Given the description of an element on the screen output the (x, y) to click on. 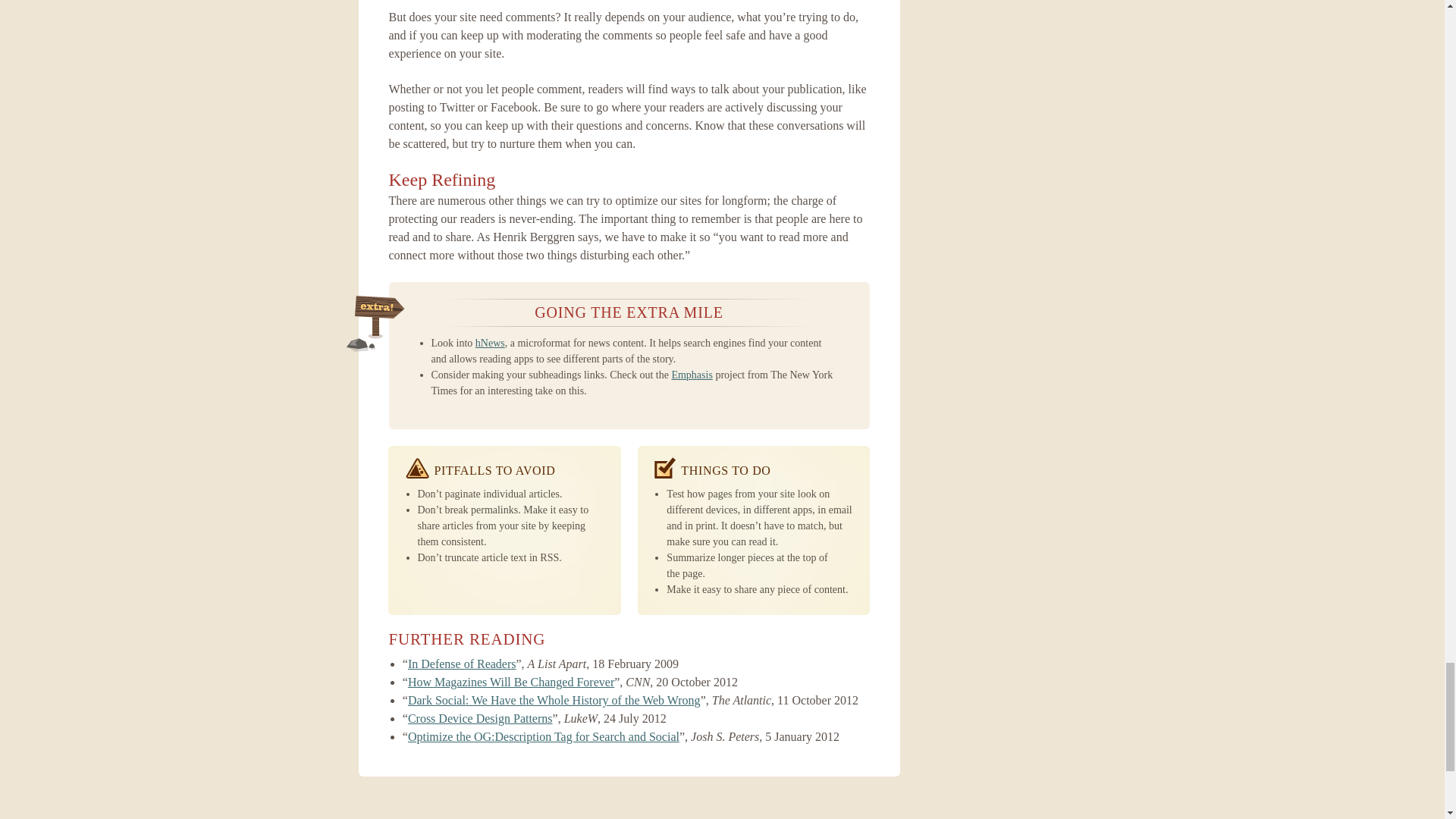
In Defense of Readers (461, 663)
How Magazines Will Be Changed Forever (510, 681)
hNews (490, 342)
Dark Social: We Have the Whole History of the Web Wrong (553, 699)
Emphasis (691, 374)
